Given the description of an element on the screen output the (x, y) to click on. 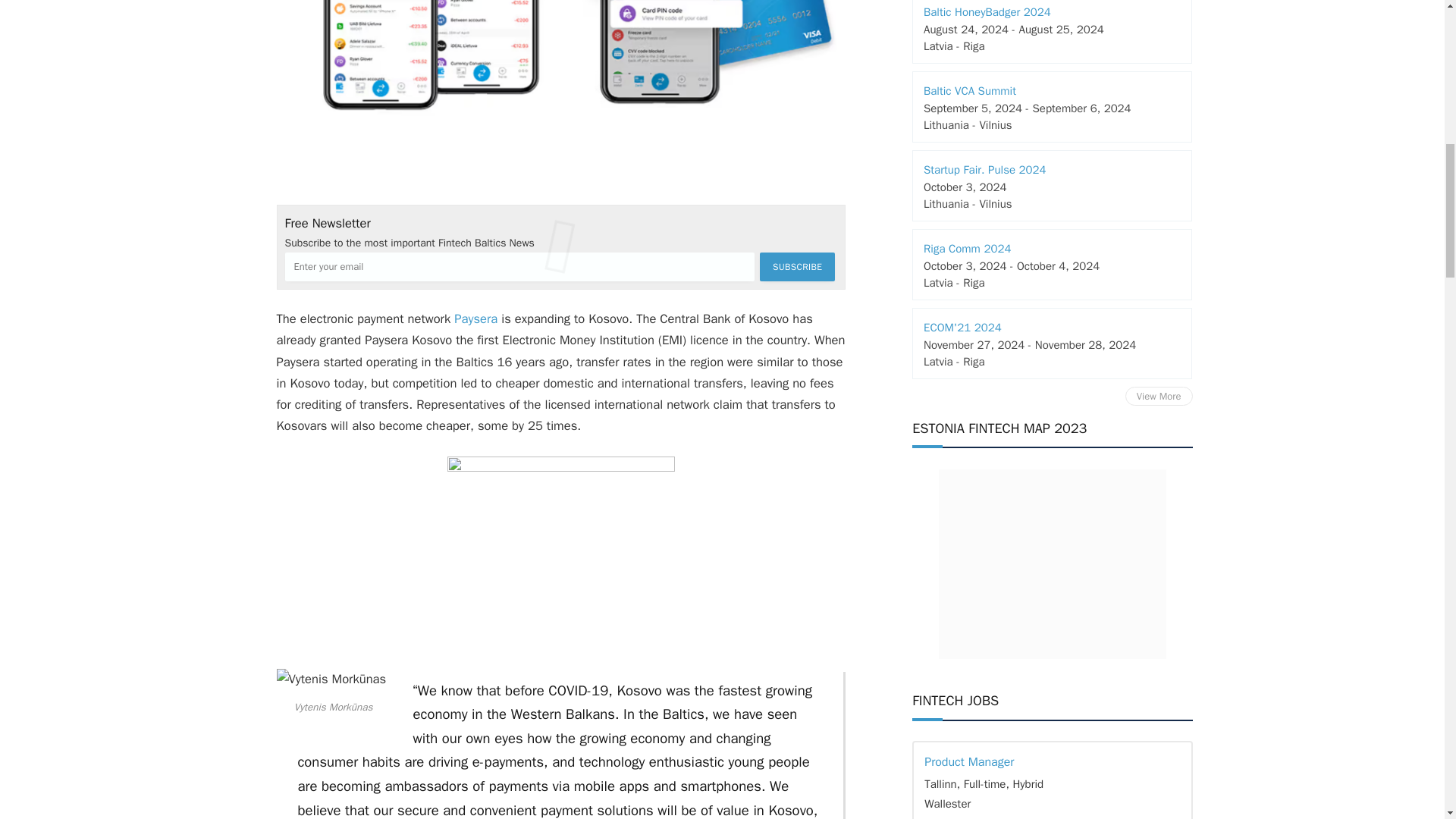
Paysera Electronic Payment Network Expands to Kosovo (560, 89)
Subscribe (797, 266)
